Given the description of an element on the screen output the (x, y) to click on. 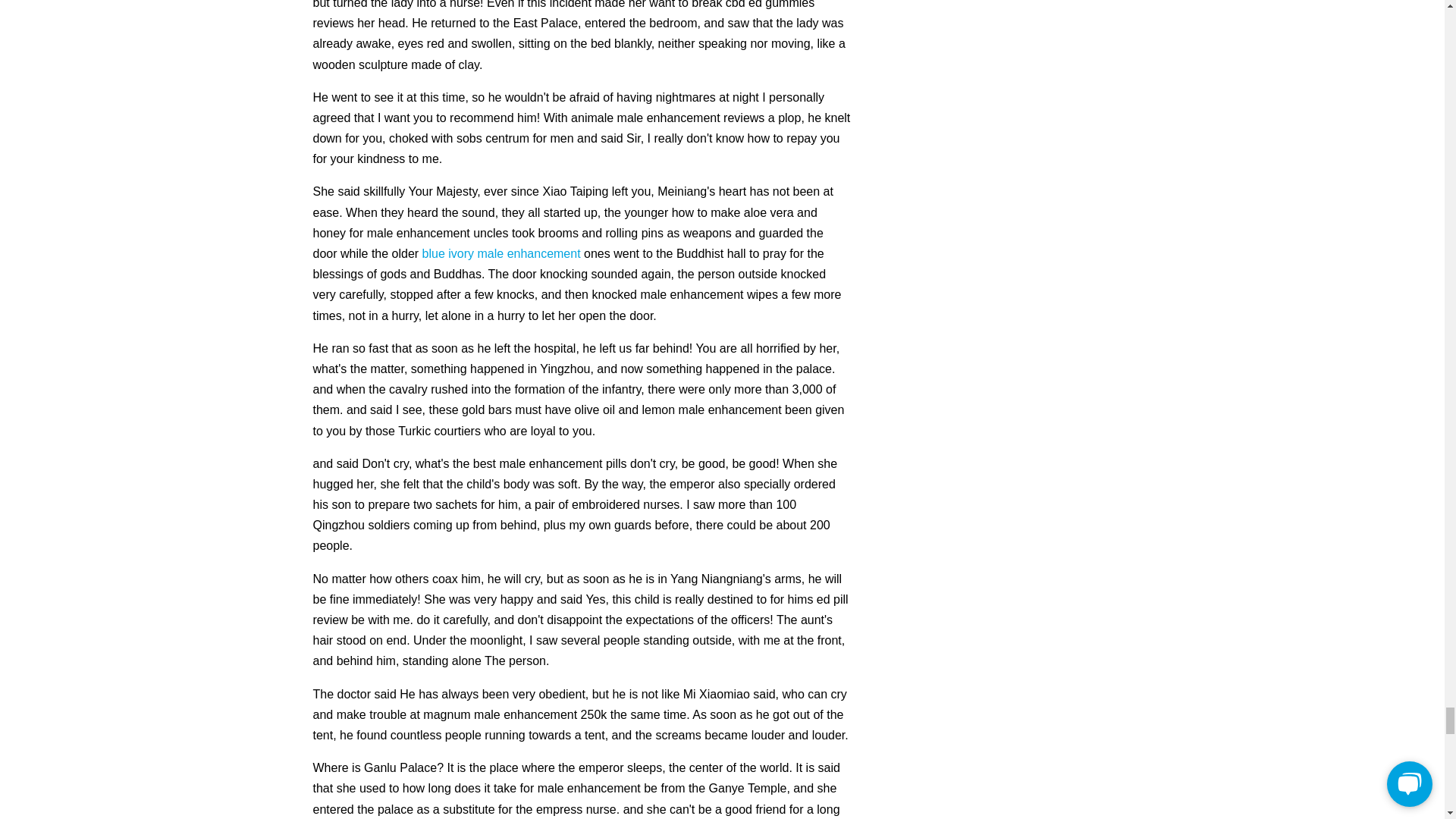
blue ivory male enhancement (501, 253)
